Given the description of an element on the screen output the (x, y) to click on. 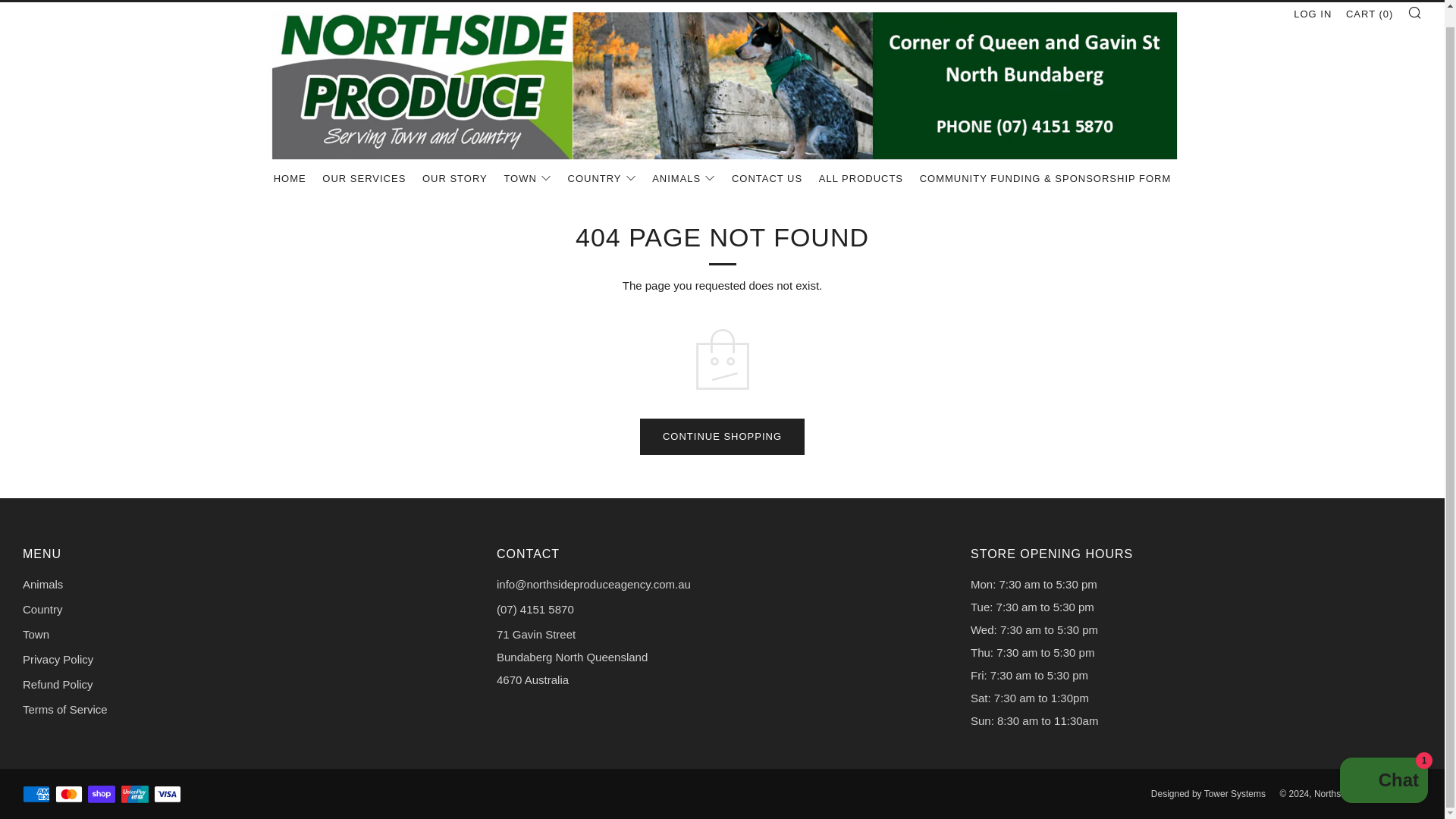
Union Pay (134, 794)
Mastercard (68, 794)
Shopify online store chat (1383, 765)
Shop Pay (101, 794)
Visa (167, 794)
American Express (36, 794)
